Given the description of an element on the screen output the (x, y) to click on. 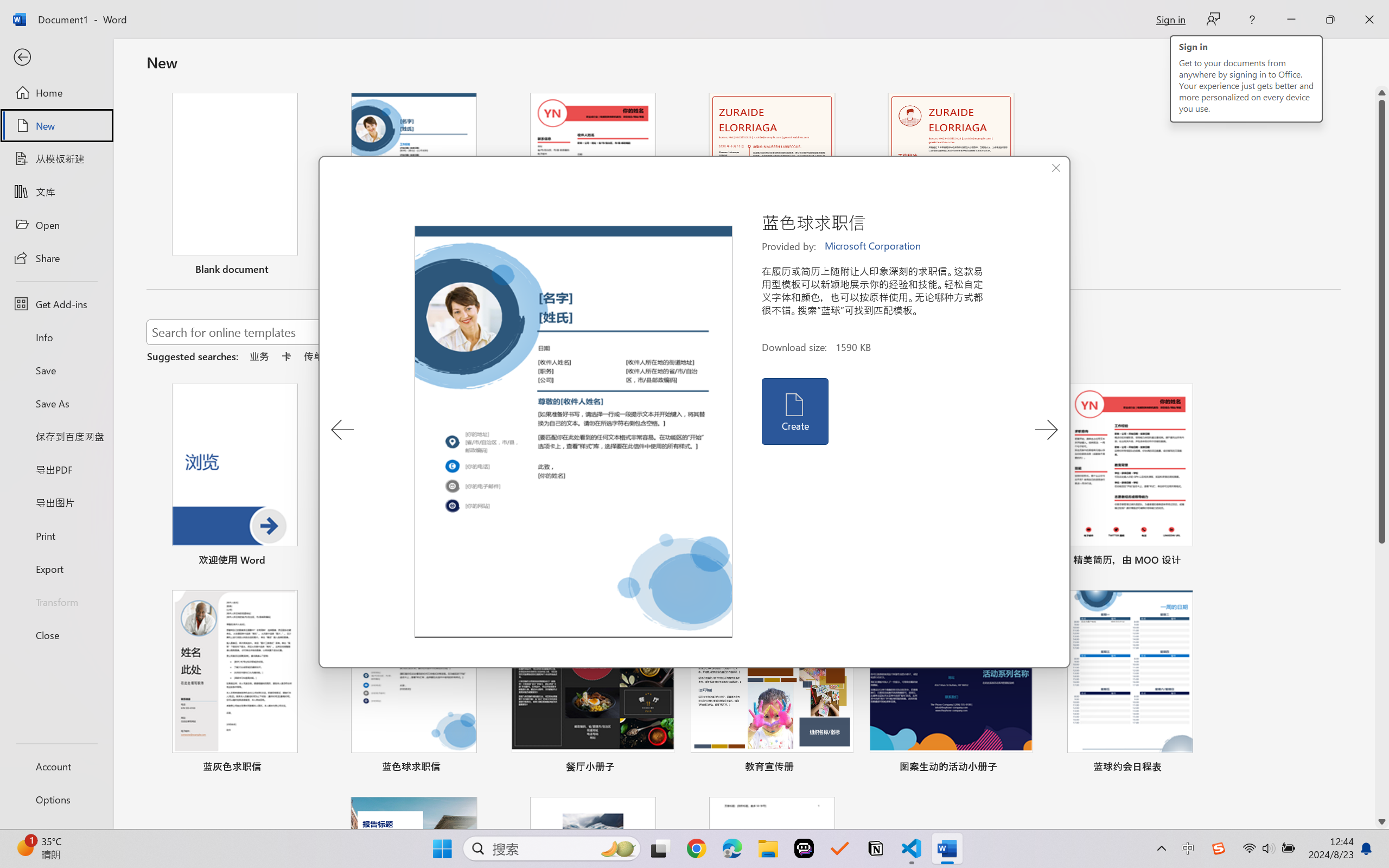
Export (56, 568)
Transform (56, 601)
Line up (1382, 92)
Start searching (638, 332)
Microsoft Corporation (873, 246)
